Given the description of an element on the screen output the (x, y) to click on. 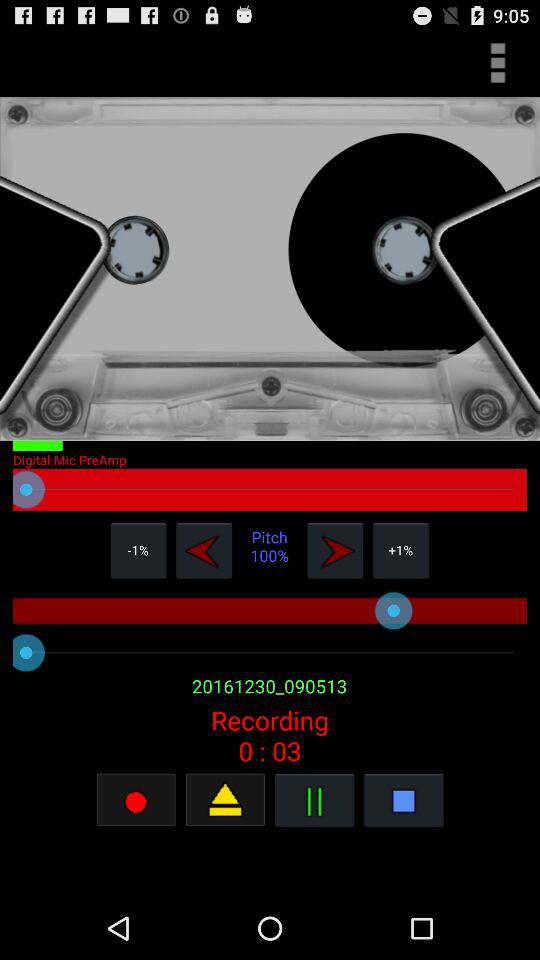
more options (498, 62)
